Given the description of an element on the screen output the (x, y) to click on. 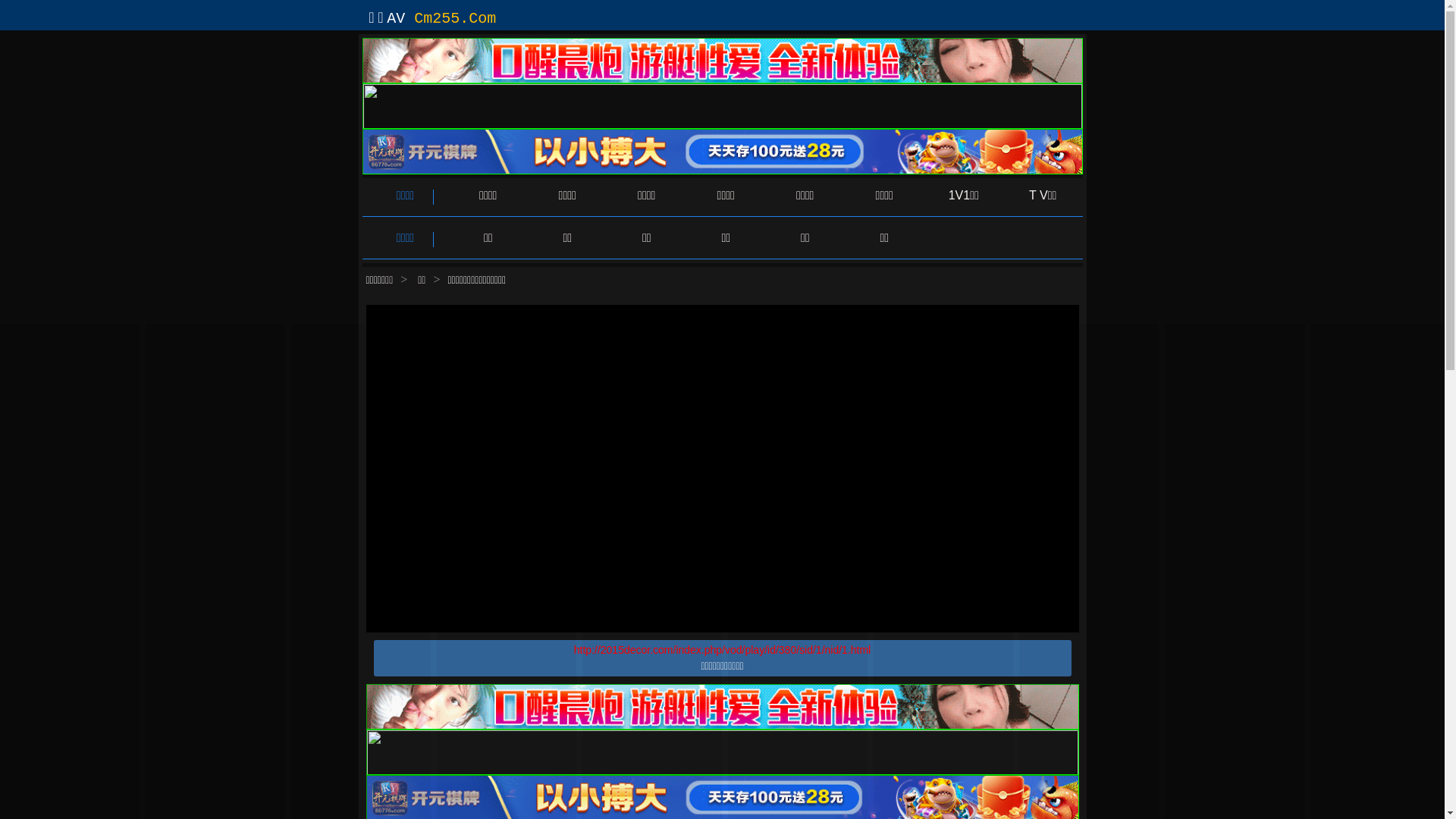
Cm255.Com Element type: text (454, 18)
